Given the description of an element on the screen output the (x, y) to click on. 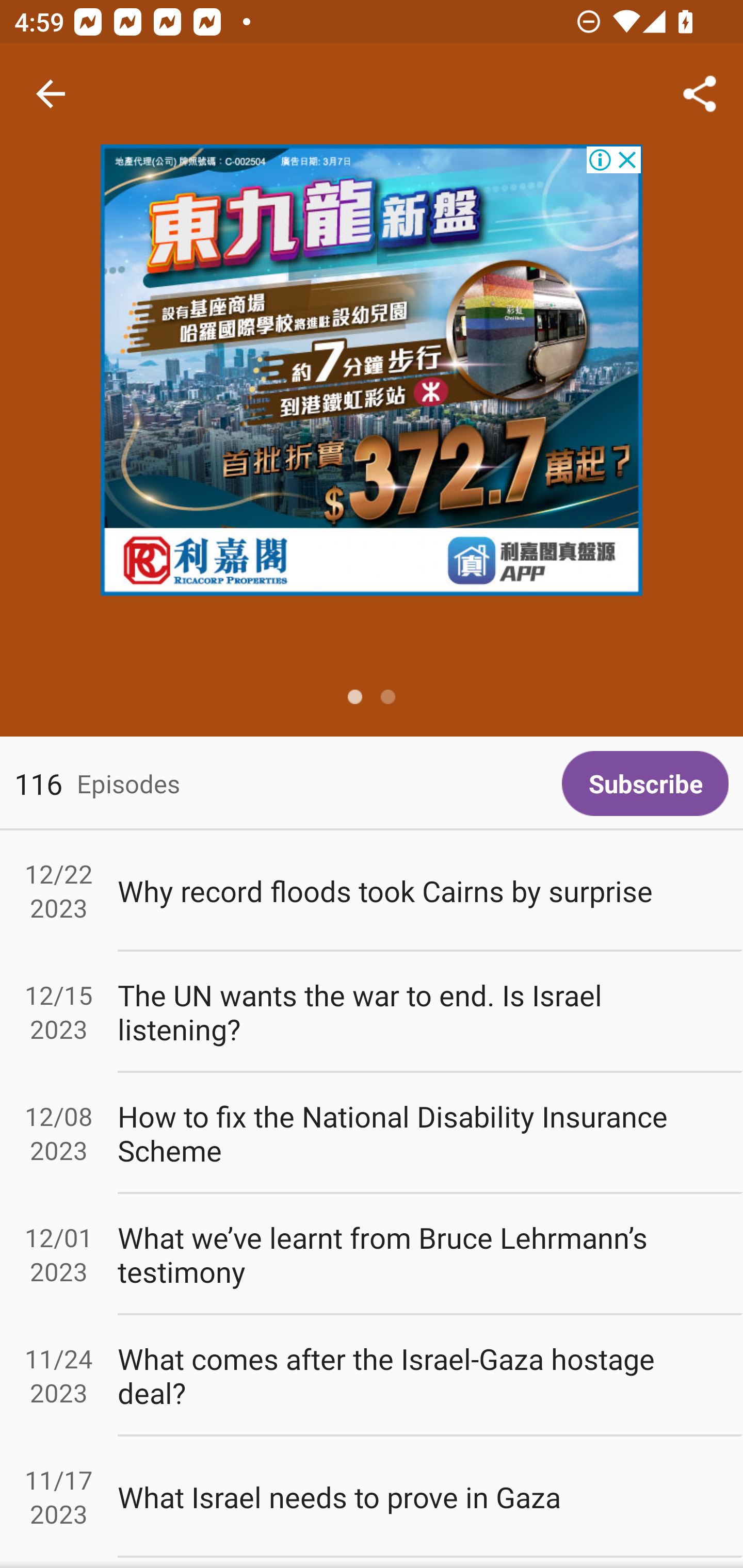
Navigate up (50, 93)
Share... (699, 93)
Advertisement 300x250 (371, 369)
Subscribe (644, 783)
11/17 2023 What Israel needs to prove in Gaza (371, 1496)
